Given the description of an element on the screen output the (x, y) to click on. 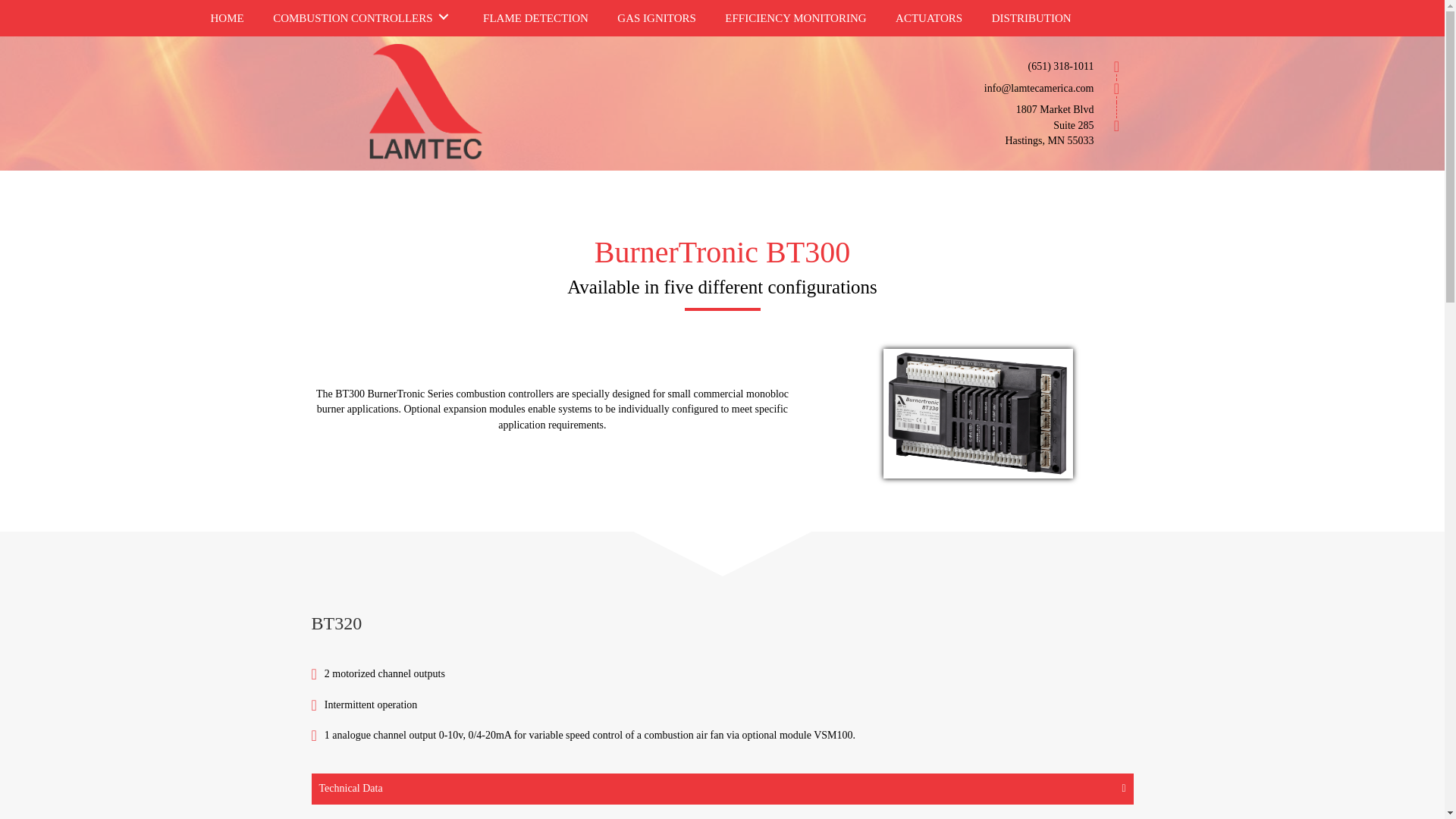
GAS IGNITORS (655, 16)
DISTRIBUTION (1031, 16)
COMBUSTION CONTROLLERS (363, 16)
EFFICIENCY MONITORING (795, 16)
FLAME DETECTION (535, 16)
ACTUATORS (928, 16)
HOME (226, 16)
